Given the description of an element on the screen output the (x, y) to click on. 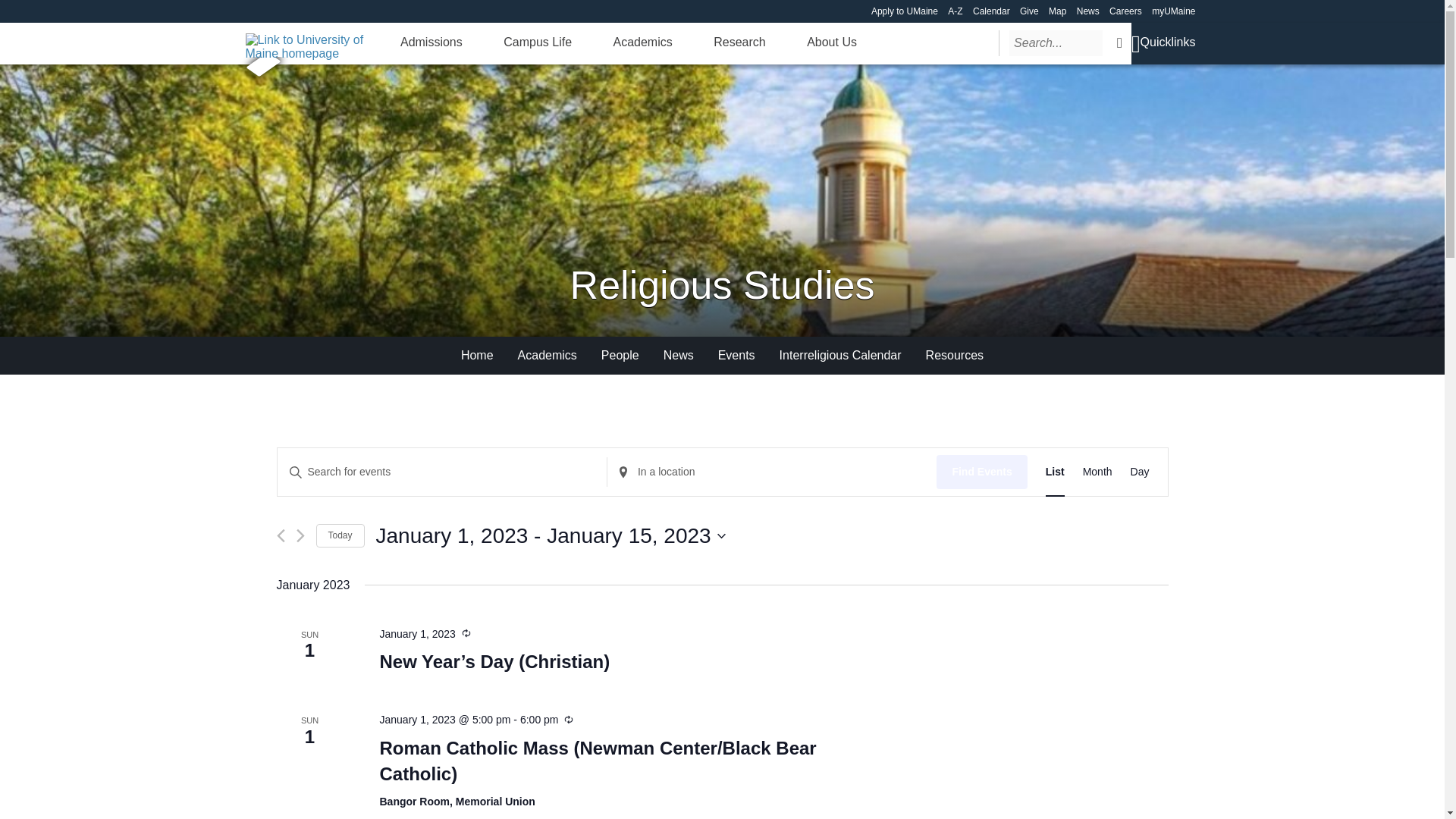
Click to toggle datepicker (550, 535)
myUMaine (1173, 10)
Apply to UMaine (903, 10)
Calendar (991, 10)
Give (1029, 10)
News (1088, 10)
Careers (1125, 10)
A-Z (954, 10)
Search for: (1055, 43)
Click to select today's date (339, 535)
